Given the description of an element on the screen output the (x, y) to click on. 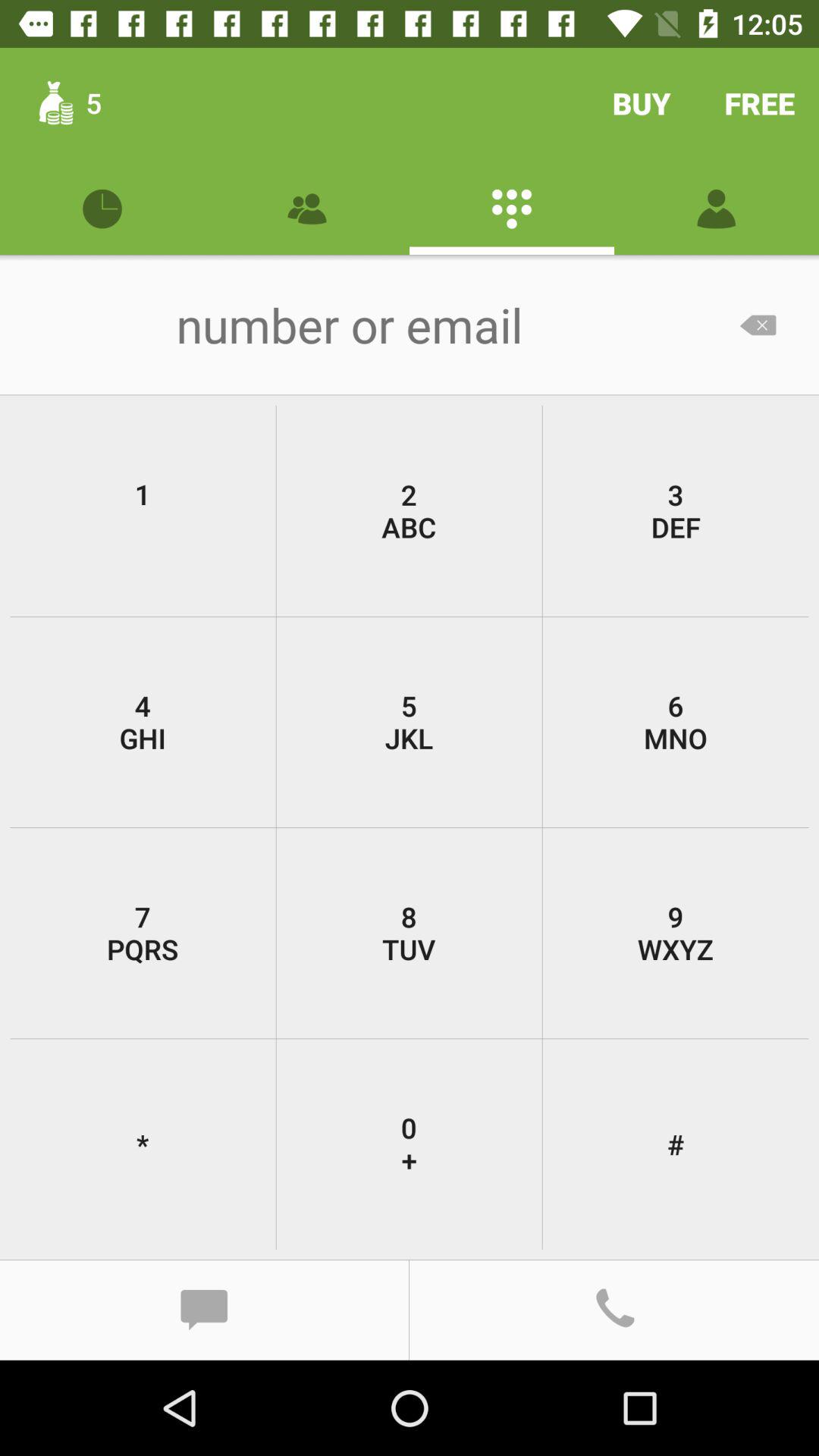
scroll to # icon (675, 1144)
